Given the description of an element on the screen output the (x, y) to click on. 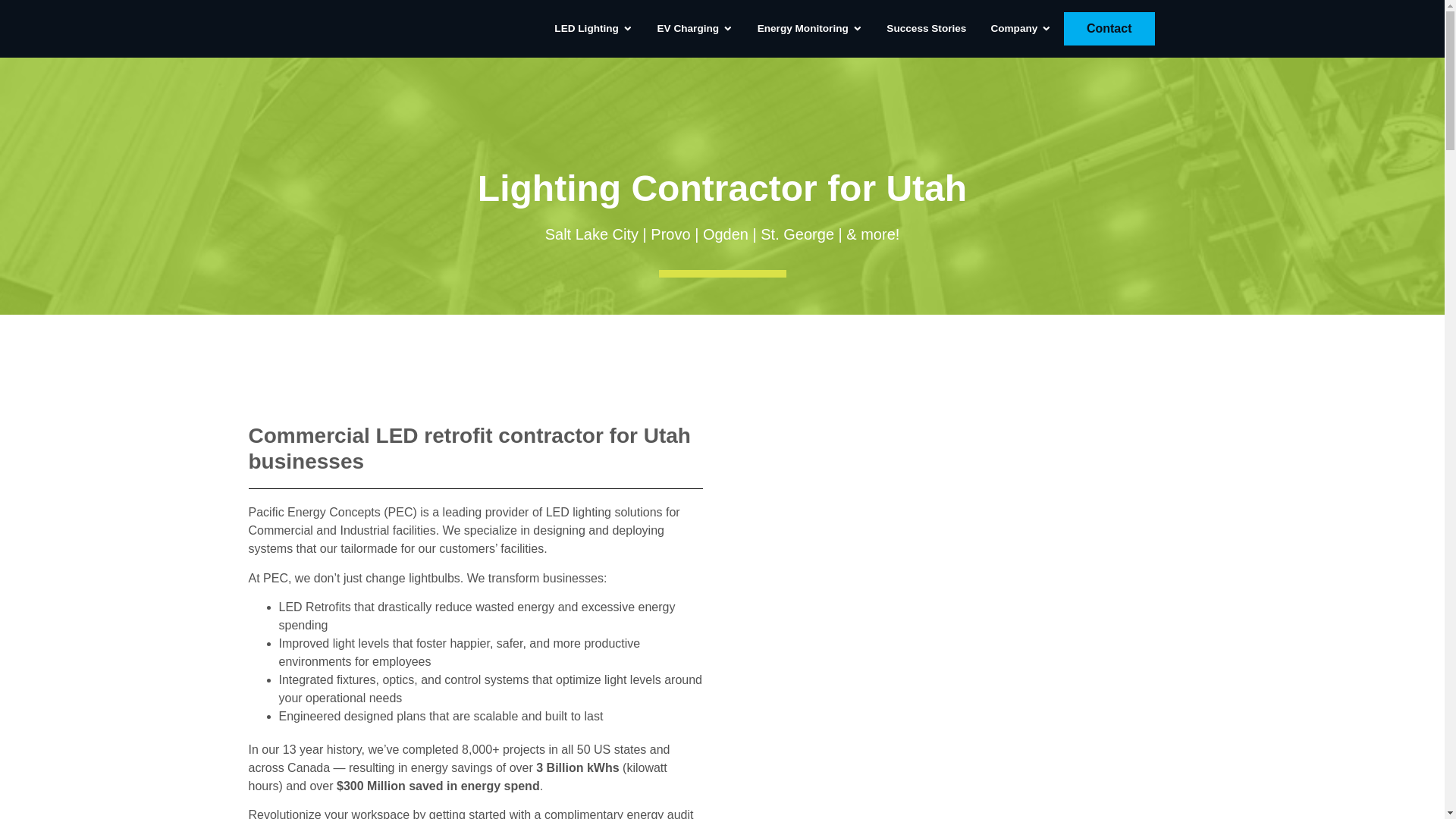
Success Stories (926, 28)
Company (1013, 28)
EV Charging (688, 28)
West-fraser-after-led-lighting-project (960, 742)
LED Lighting (586, 28)
Contact (1109, 28)
Energy Monitoring (802, 28)
